Given the description of an element on the screen output the (x, y) to click on. 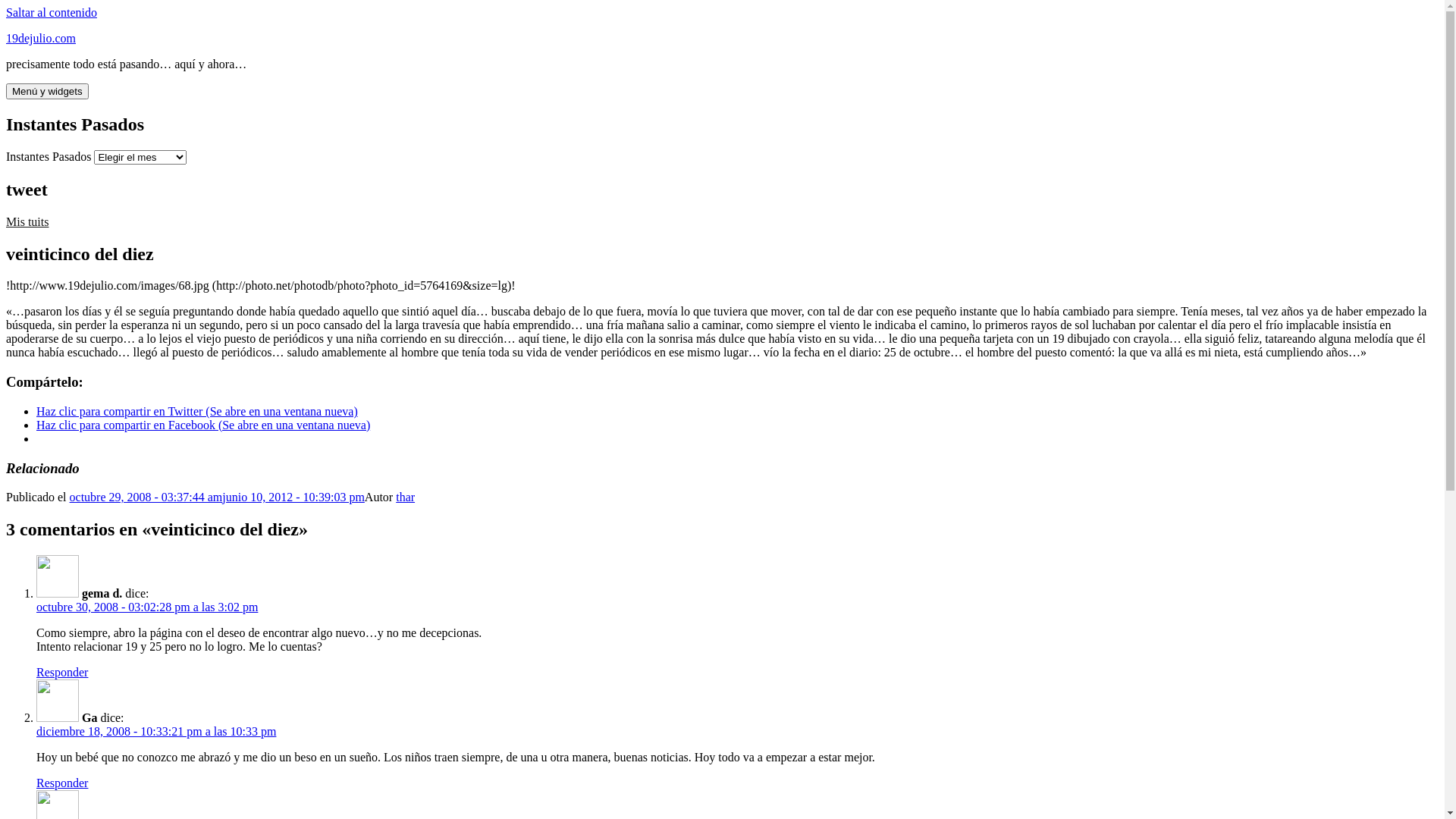
thar Element type: text (404, 496)
Mis tuits Element type: text (27, 221)
diciembre 18, 2008 - 10:33:21 pm a las 10:33 pm Element type: text (156, 730)
octubre 30, 2008 - 03:02:28 pm a las 3:02 pm Element type: text (146, 606)
Saltar al contenido Element type: text (51, 12)
octubre 29, 2008 - 03:37:44 amjunio 10, 2012 - 10:39:03 pm Element type: text (216, 496)
19dejulio.com Element type: text (40, 37)
Responder Element type: text (61, 782)
Responder Element type: text (61, 671)
